Given the description of an element on the screen output the (x, y) to click on. 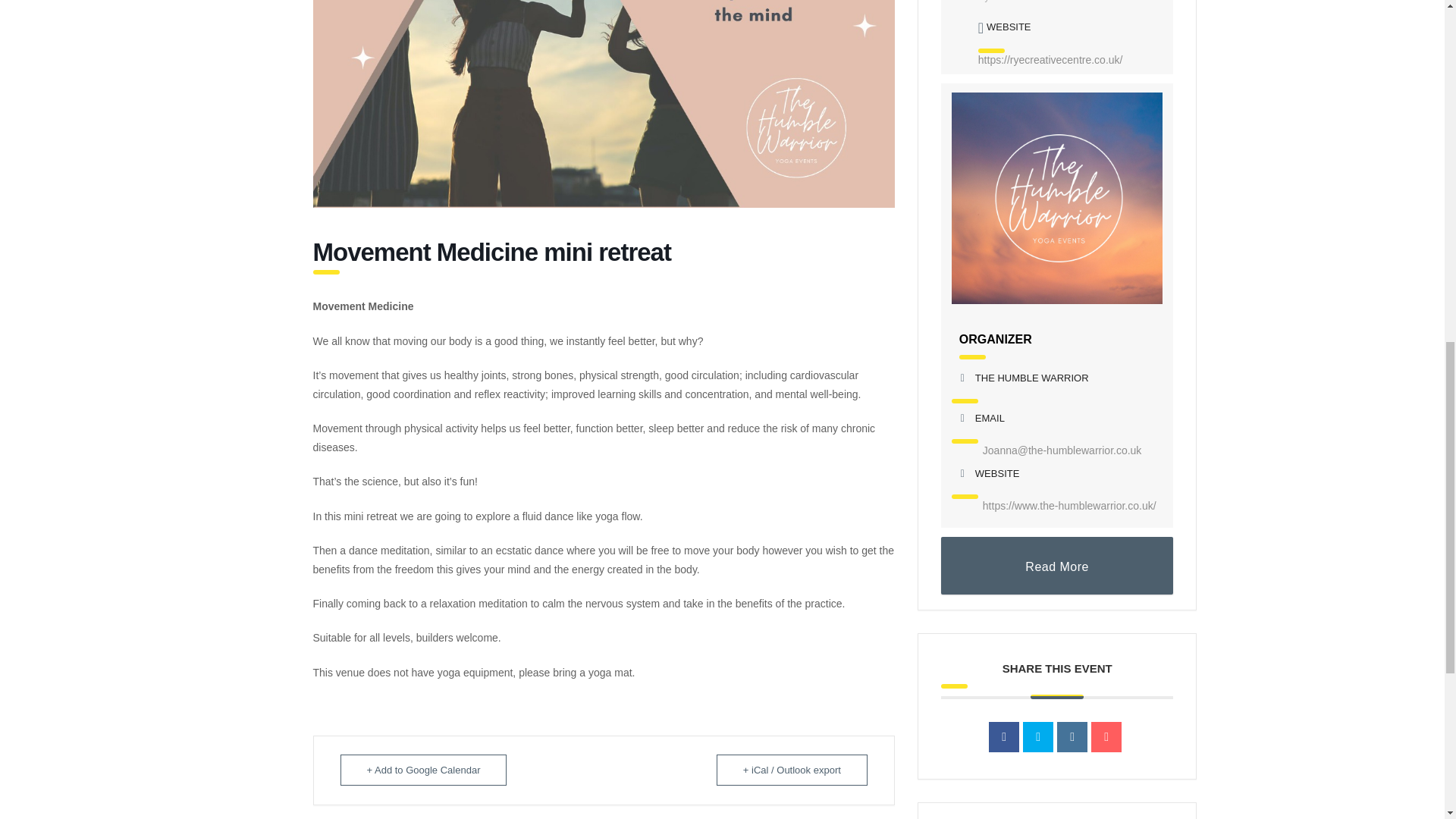
Linkedin (1072, 736)
Tweet (1037, 736)
Email (1105, 736)
Read More (1056, 565)
Share on Facebook (1003, 736)
